Given the description of an element on the screen output the (x, y) to click on. 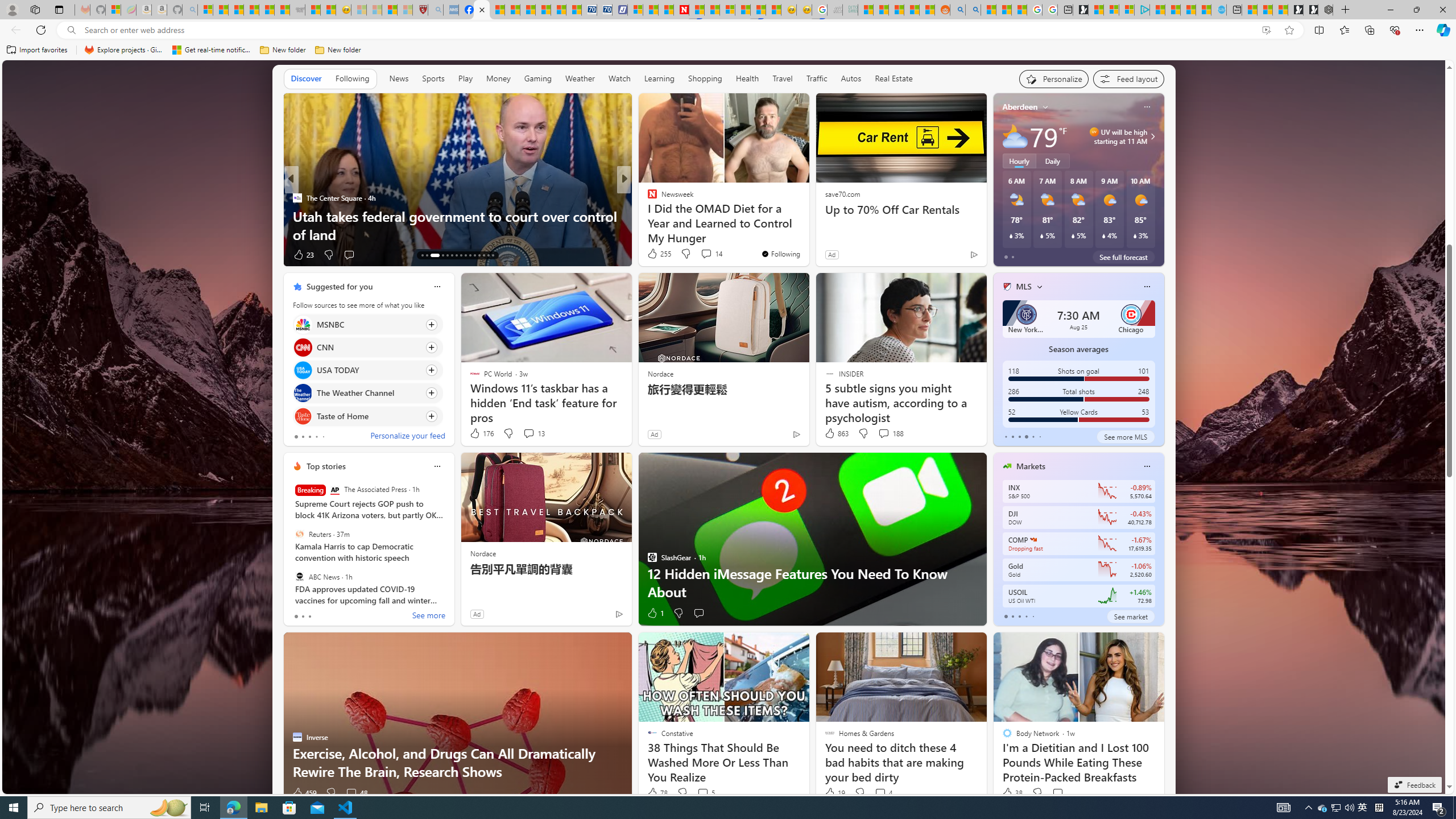
Click to follow source USA TODAY (367, 370)
View comments 4 Comment (882, 792)
View comments 114 Comment (709, 254)
78 Like (657, 792)
